Given the description of an element on the screen output the (x, y) to click on. 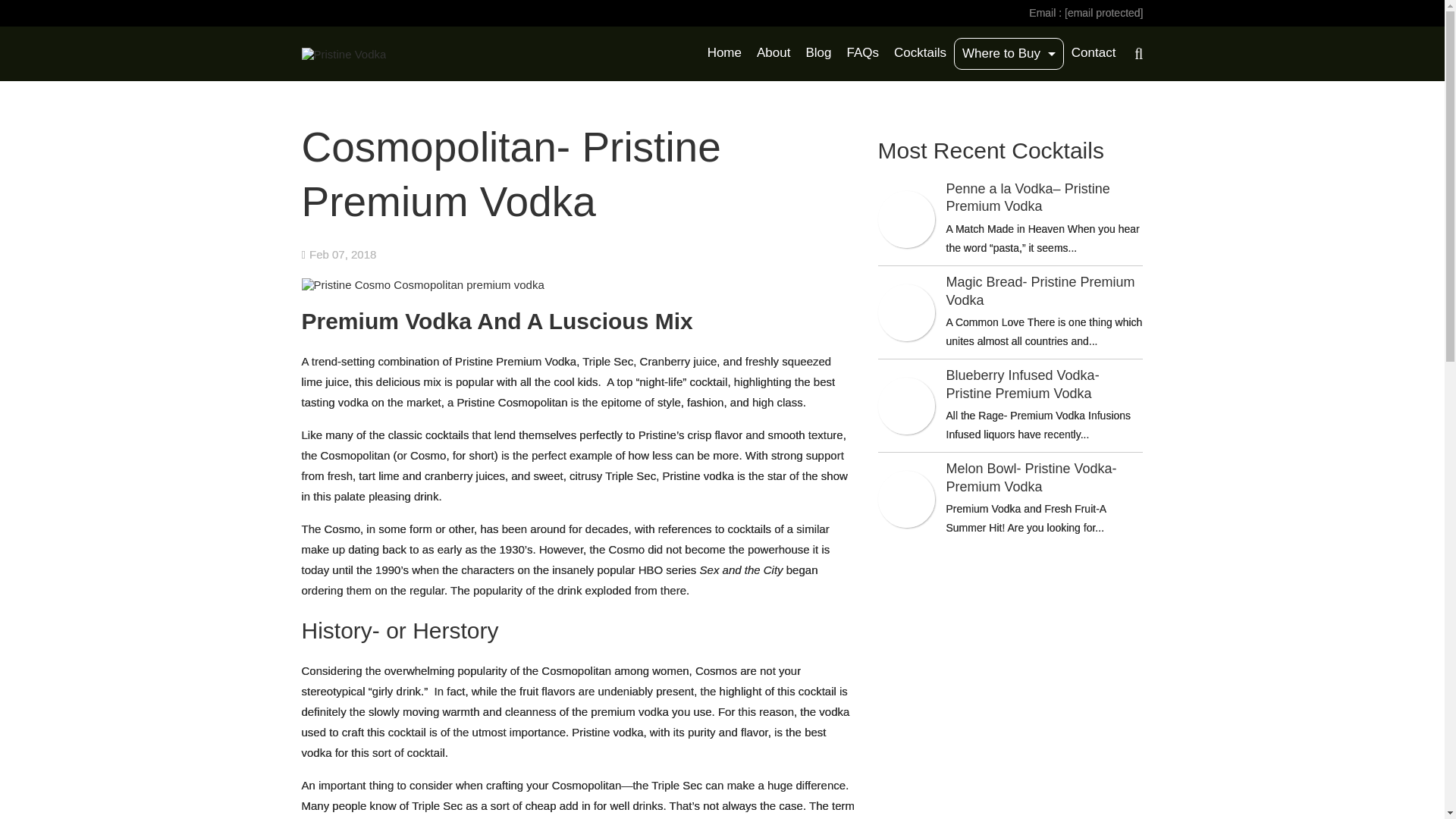
Triple Sec (675, 784)
Cocktails (919, 52)
Blueberry Infused Vodka- Pristine Premium Vodka (1044, 384)
Pristine vodka (697, 475)
Home (724, 52)
About (773, 52)
Blog (817, 52)
Pristine Vodka (344, 53)
FAQs (862, 52)
Mail us (1103, 13)
